Given the description of an element on the screen output the (x, y) to click on. 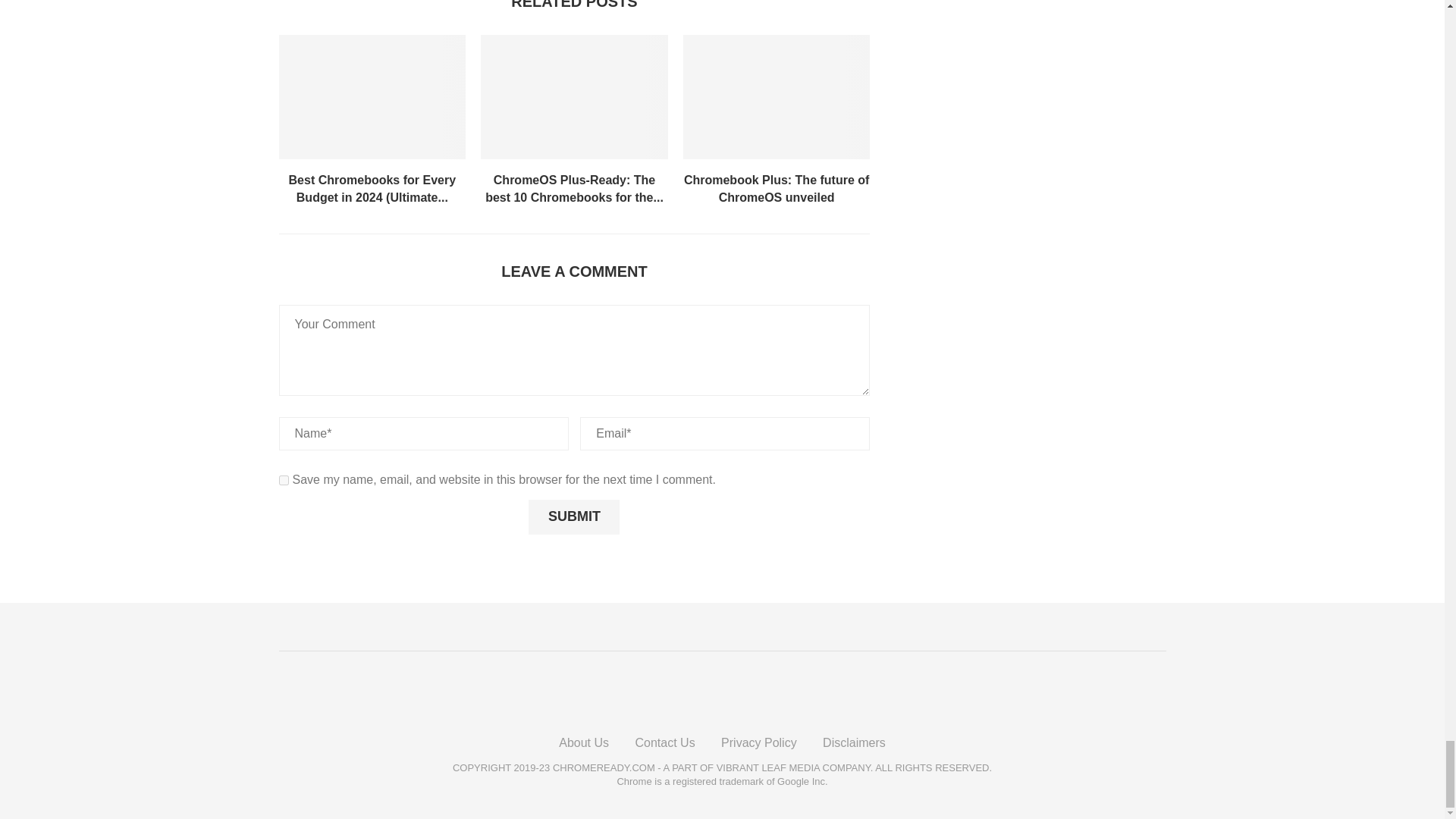
yes (283, 480)
ChromeOS Plus-Ready: The best 10 Chromebooks for the upgrade (574, 96)
Submit (574, 516)
Chromebook Plus: The future of ChromeOS unveiled (776, 96)
